Given the description of an element on the screen output the (x, y) to click on. 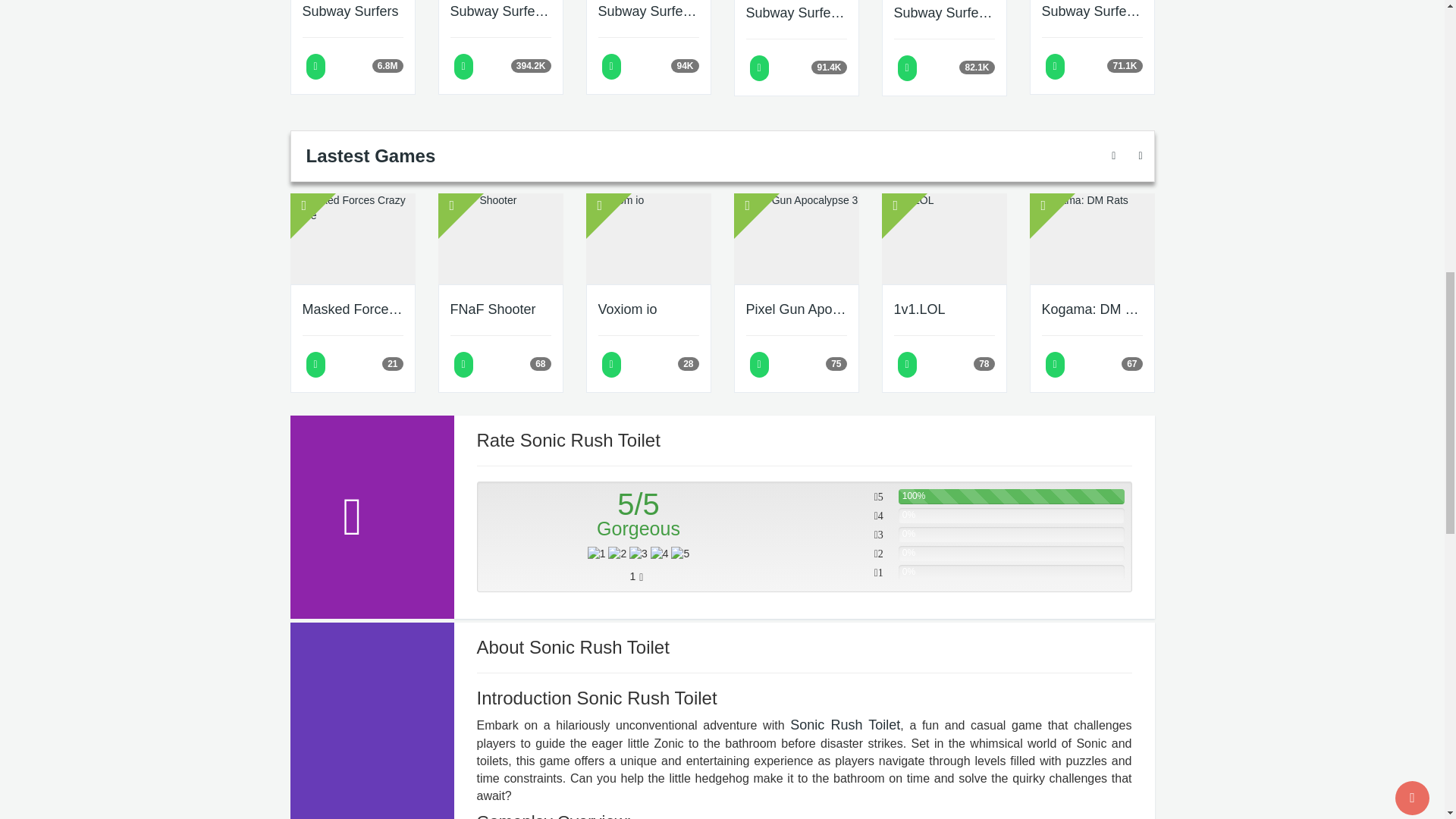
Subway Surfers Zurich 2023 (500, 12)
Subway Surfers Havana 2023 (943, 13)
Subway Surfers Unblocked (647, 12)
Subway Surfers (352, 12)
6798884 played (387, 65)
Subway Surfers Zurich 2023 (500, 12)
93972 played (684, 65)
Subway Surfers San Francisco 2 (1092, 12)
Subway Surfers Unblocked (647, 12)
394153 played (531, 65)
